Given the description of an element on the screen output the (x, y) to click on. 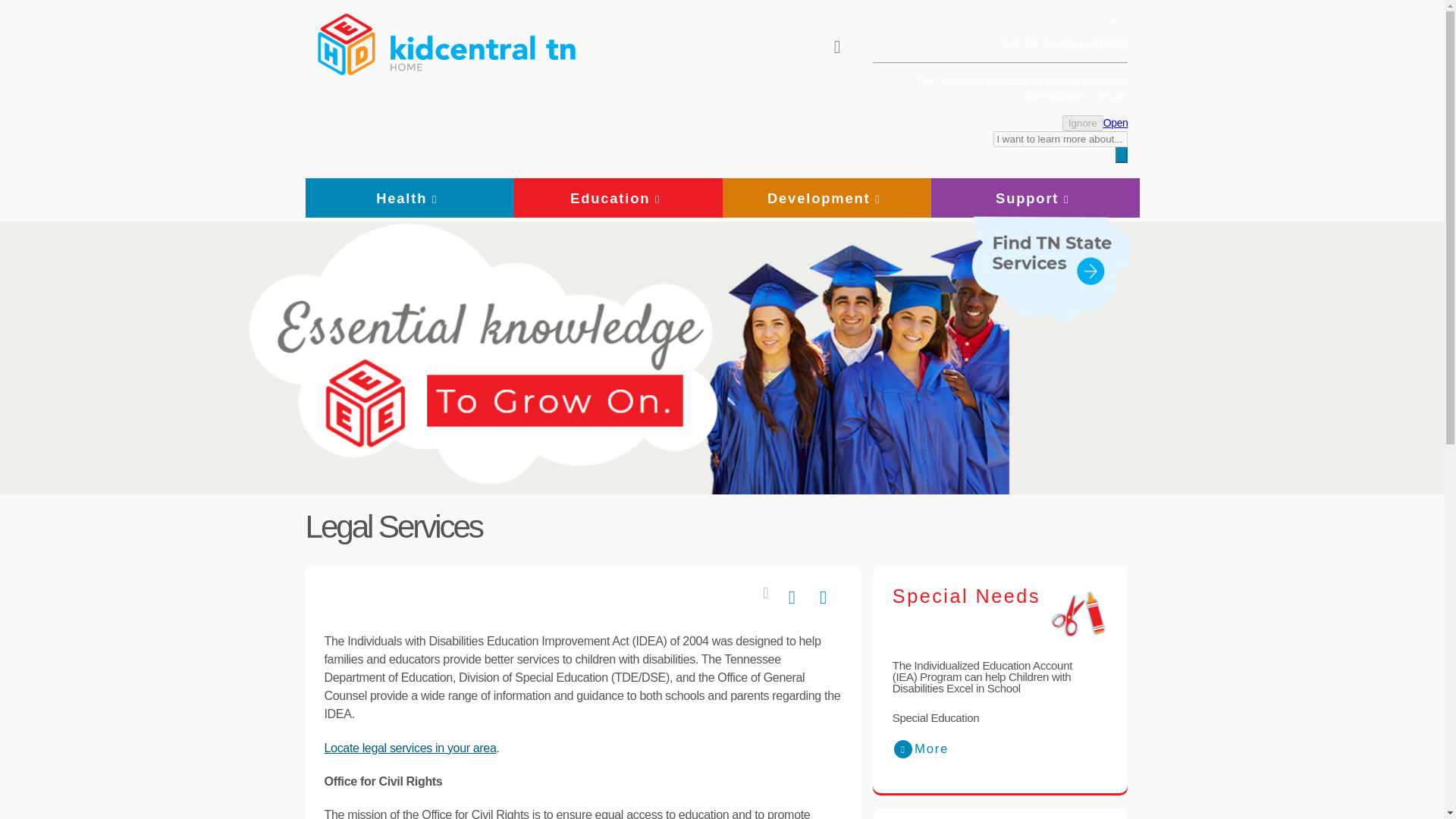
Go to Homepage (1078, 18)
Development (826, 197)
Facebook like (826, 597)
Education (617, 197)
Support (1034, 197)
Home (347, 41)
Health (408, 197)
